Given the description of an element on the screen output the (x, y) to click on. 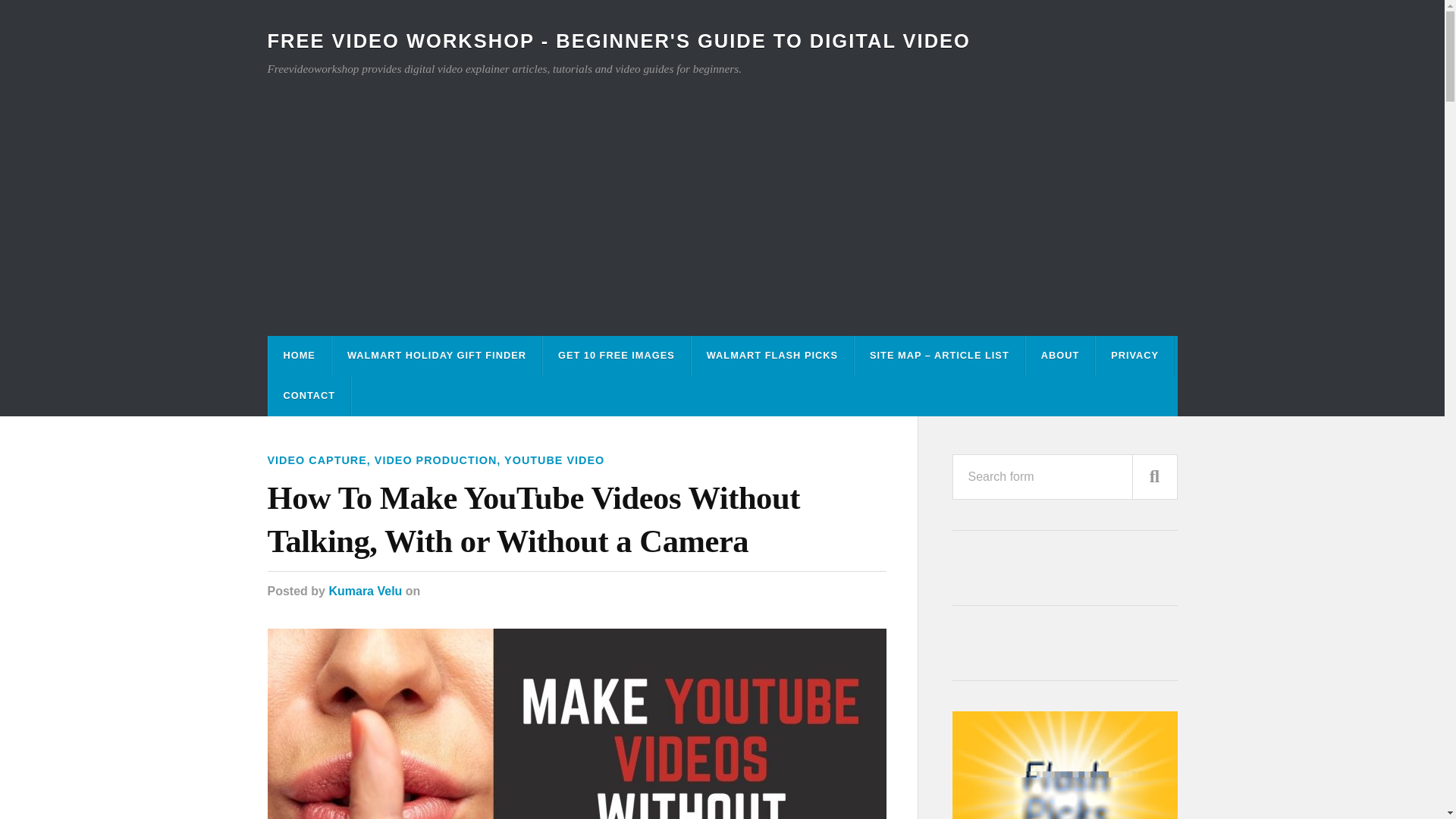
PRIVACY (1134, 355)
WALMART FLASH PICKS (772, 355)
VIDEO CAPTURE (316, 460)
GET 10 FREE IMAGES (616, 355)
FREE VIDEO WORKSHOP - BEGINNER'S GUIDE TO DIGITAL VIDEO (617, 40)
CONTACT (308, 395)
YOUTUBE VIDEO (553, 460)
WALMART HOLIDAY GIFT FINDER (436, 355)
HOME (298, 355)
